Given the description of an element on the screen output the (x, y) to click on. 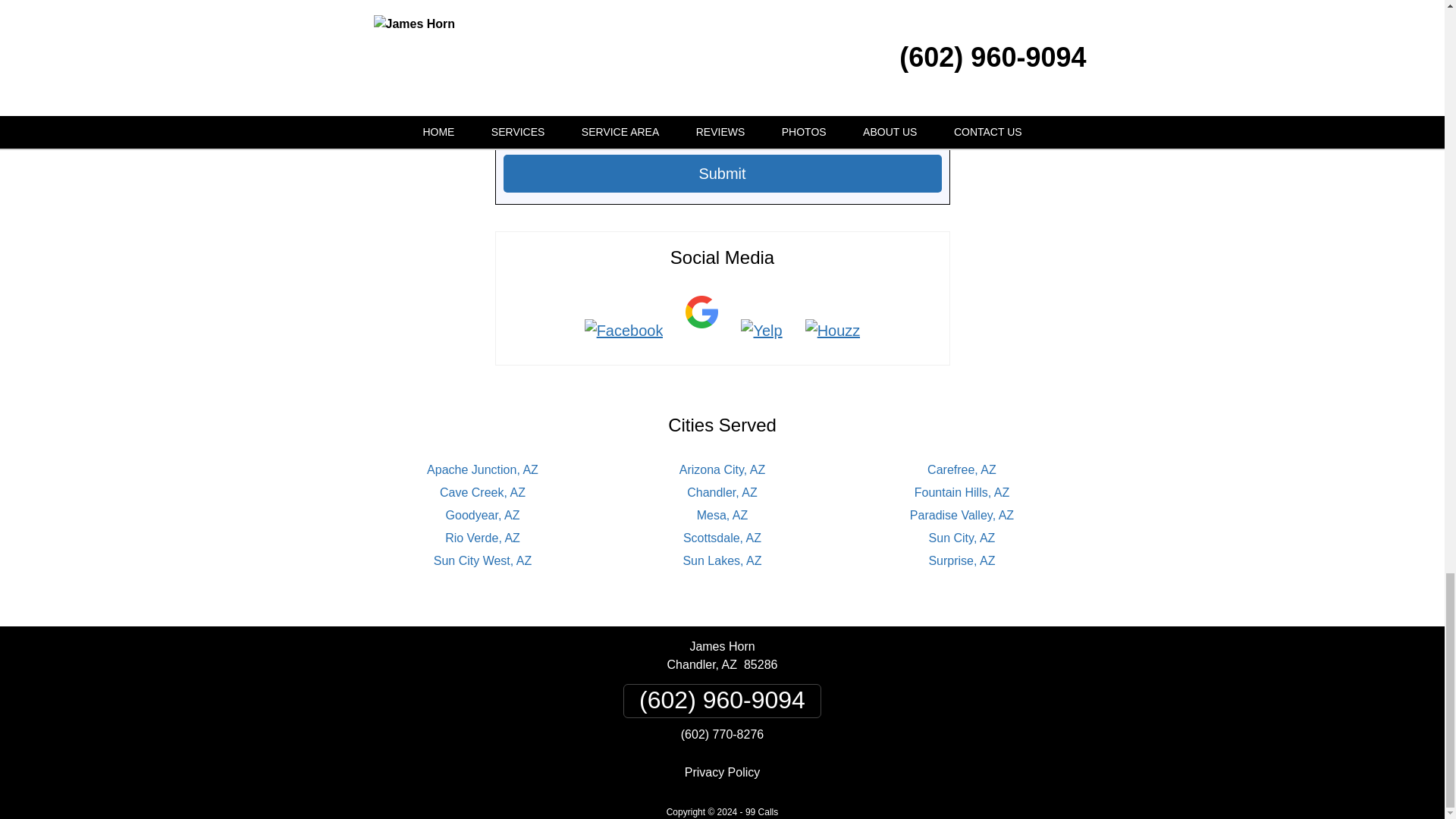
Yelp (761, 330)
Sun Lakes, AZ (721, 560)
Goodyear, AZ (482, 514)
Mesa, AZ (722, 514)
Fountain Hills, AZ (961, 492)
Cave Creek, AZ (482, 492)
Carefree, AZ (961, 469)
Rio Verde, AZ (482, 537)
Arizona City, AZ (722, 469)
Surprise, AZ (961, 560)
Houzz (832, 330)
Facebook (624, 330)
Sun City, AZ (961, 537)
Scottsdale, AZ (721, 537)
Sun City West, AZ (482, 560)
